Given the description of an element on the screen output the (x, y) to click on. 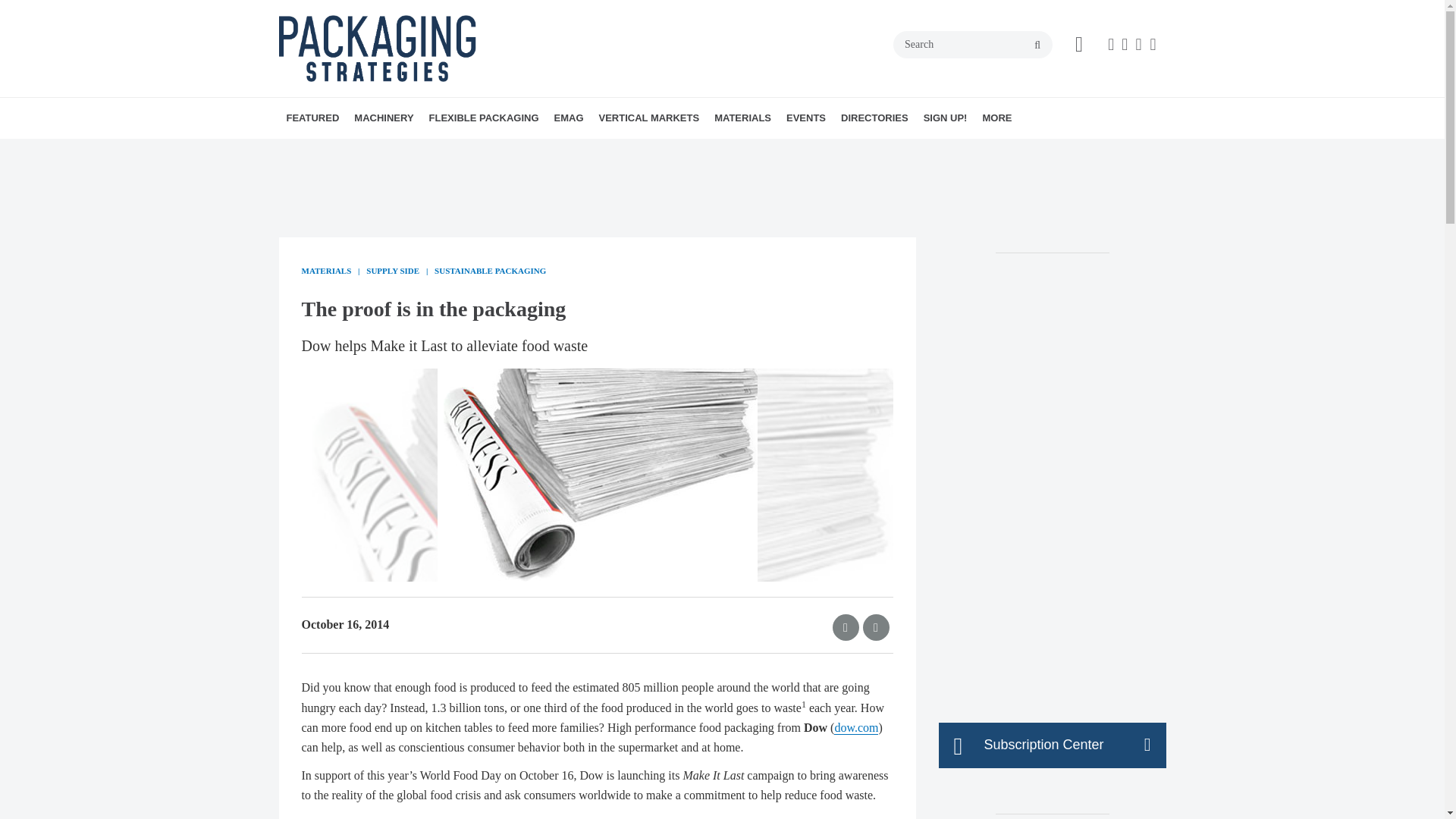
Search (972, 44)
MACHINERY (383, 117)
FLEXIBLE PACKAGING (484, 117)
search (1037, 45)
EMAG (568, 117)
CONVEYORS (471, 150)
PACKAGING NEWS (389, 150)
SUPPLY SIDE (405, 150)
NEW PACKAGES (395, 150)
ROBOTICS (488, 150)
